Given the description of an element on the screen output the (x, y) to click on. 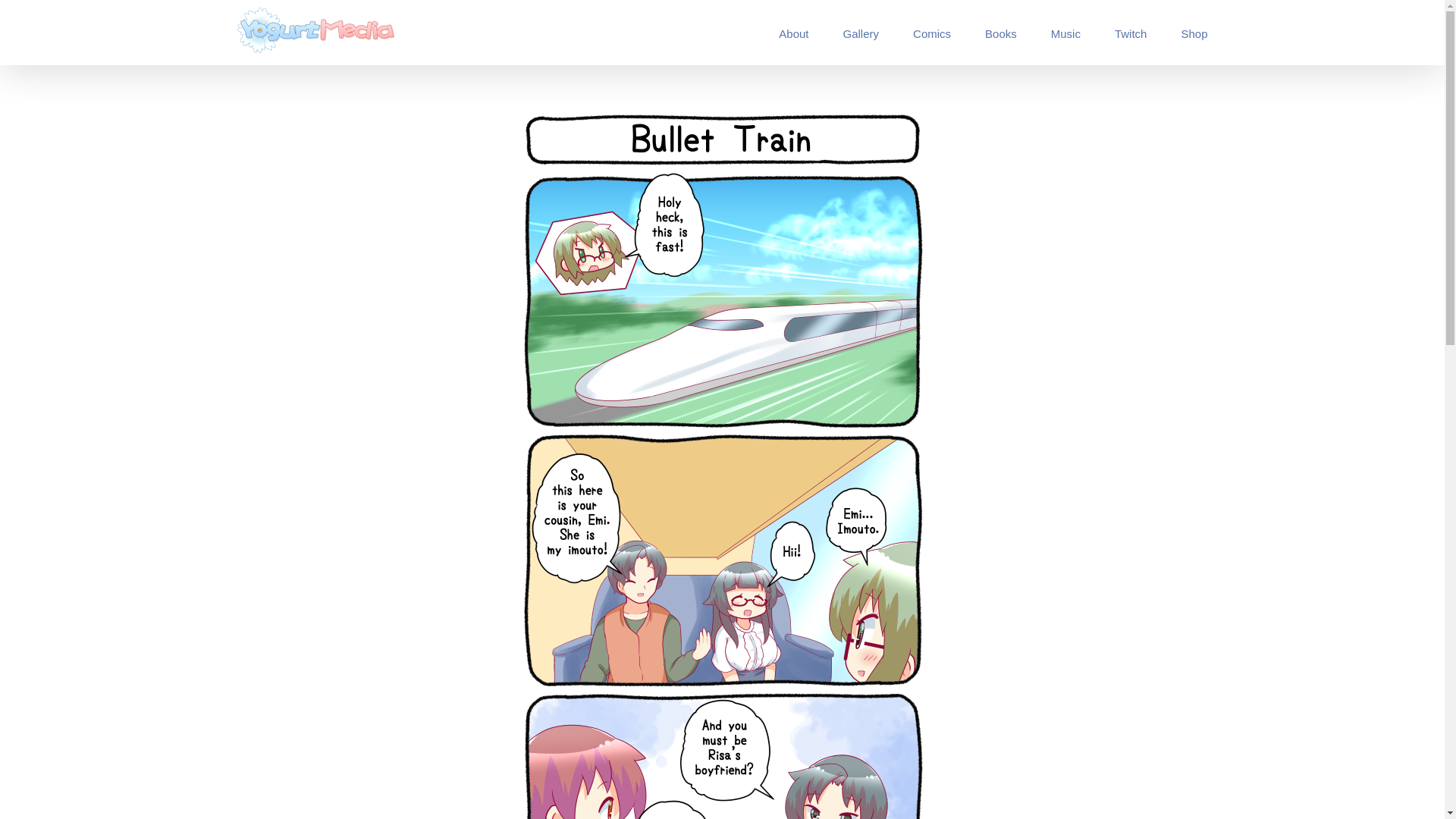
Bullet Train (721, 113)
